Given the description of an element on the screen output the (x, y) to click on. 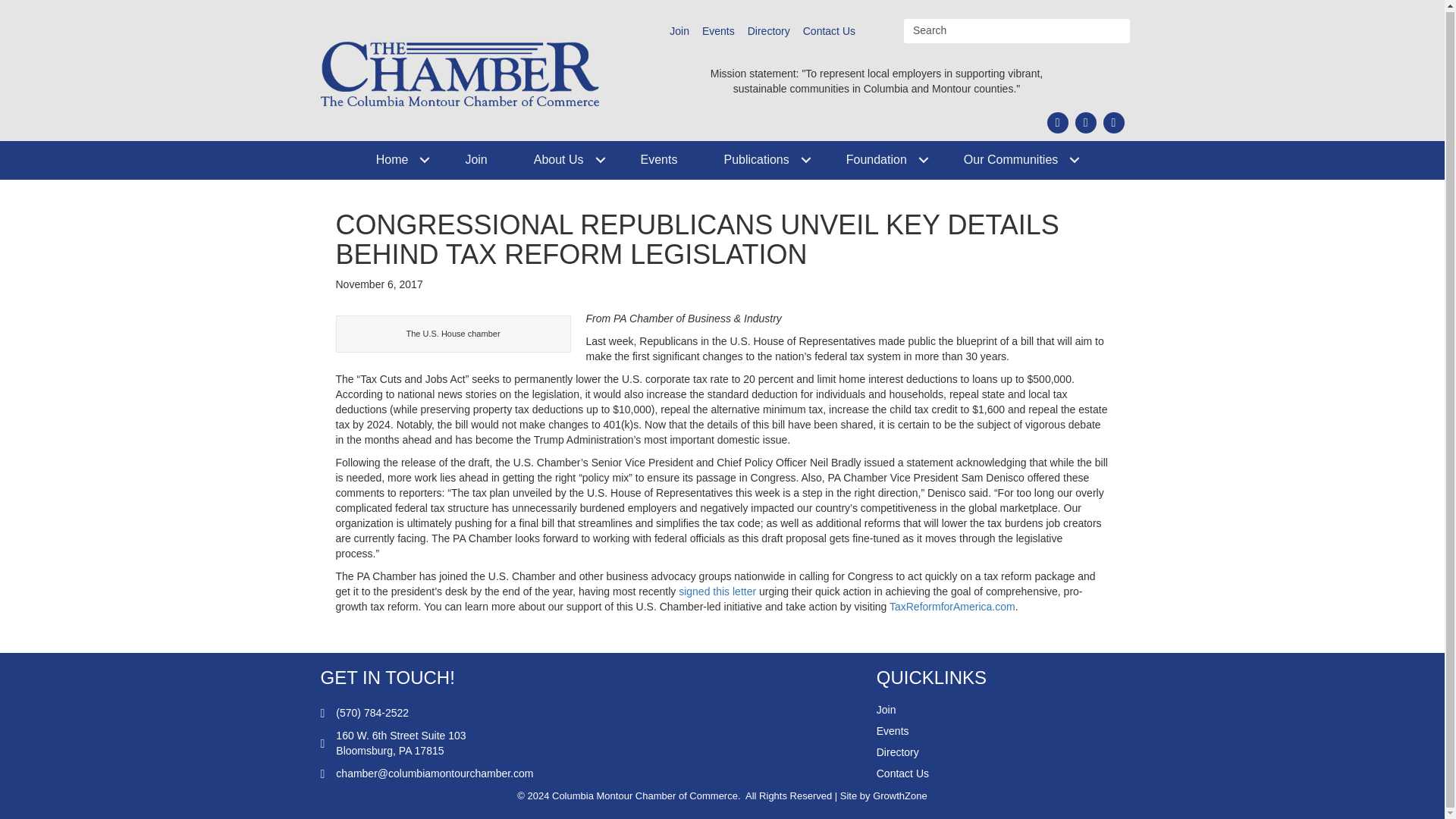
Contact Us (828, 31)
Events (718, 31)
Events (658, 159)
Publications (761, 159)
Join (475, 159)
About Us (564, 159)
Directory (768, 31)
Join (679, 31)
Home (397, 159)
Foundation (882, 159)
Our Communities (1015, 159)
